Given the description of an element on the screen output the (x, y) to click on. 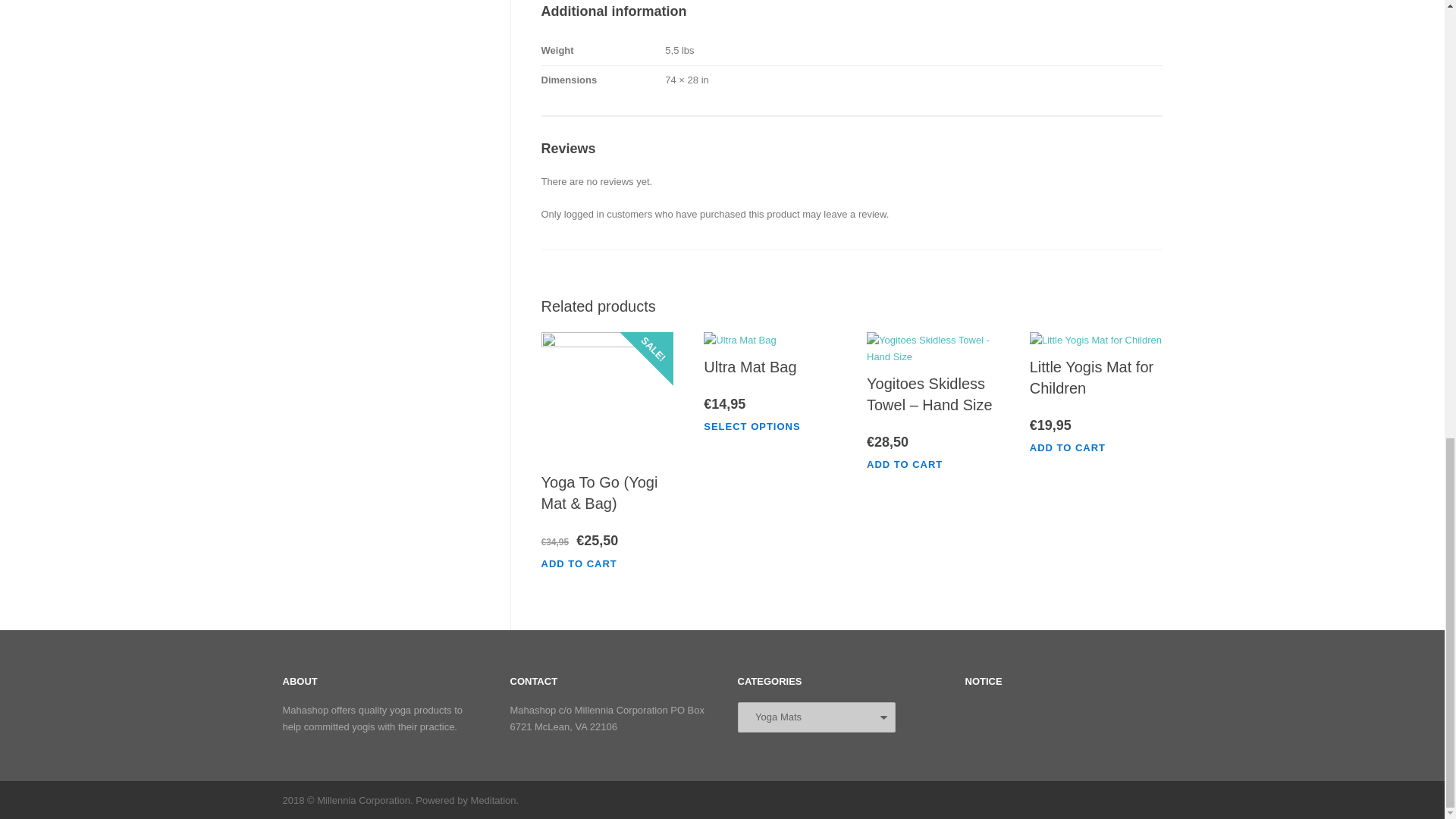
ADD TO CART (912, 464)
SELECT OPTIONS (759, 426)
ADD TO CART (586, 563)
